Given the description of an element on the screen output the (x, y) to click on. 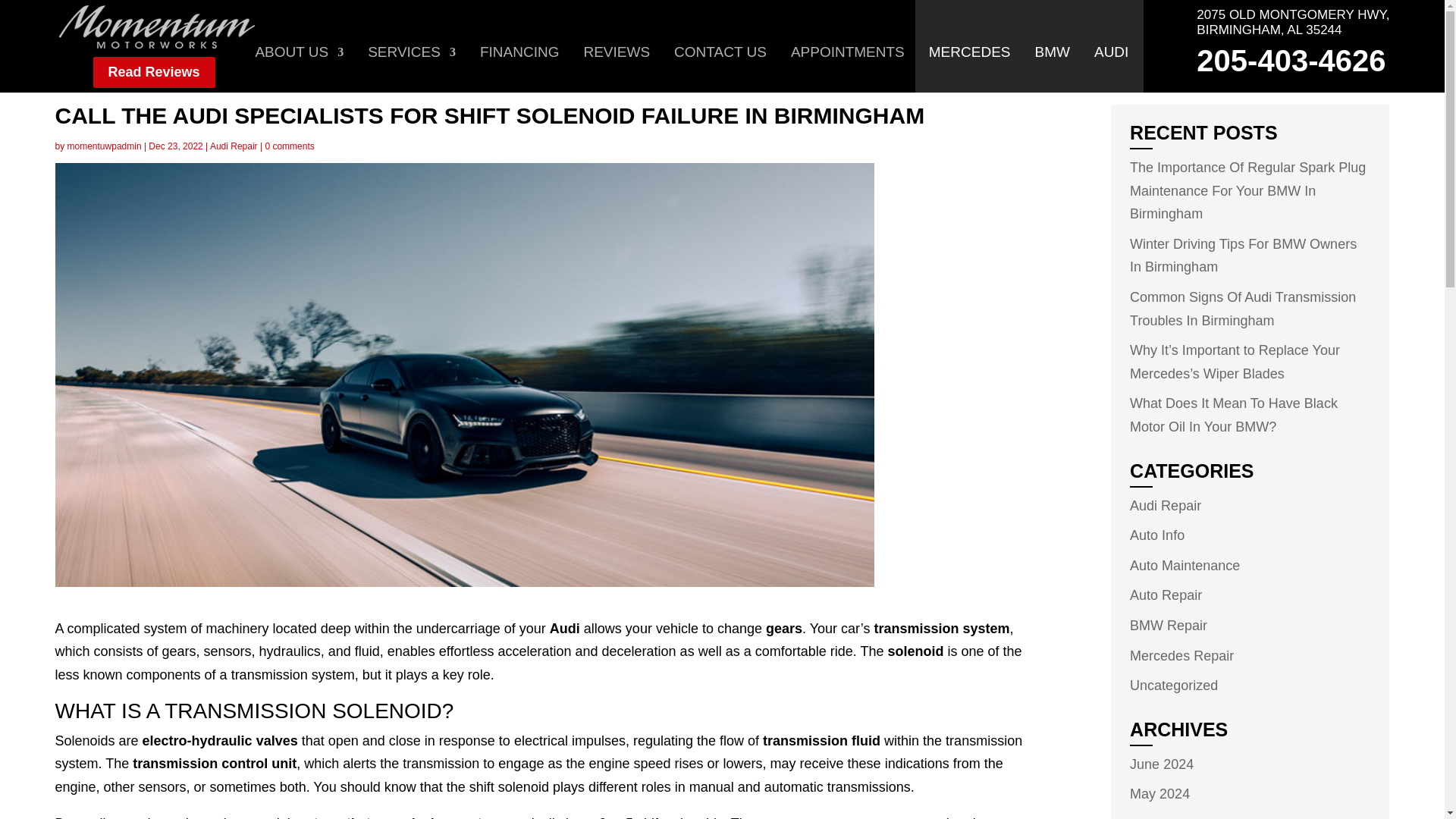
REVIEWS (616, 69)
Winter Driving Tips For BMW Owners In Birmingham (1242, 255)
CONTACT US (720, 69)
APPOINTMENTS (847, 69)
SERVICES (411, 69)
0 comments (289, 145)
FINANCING (519, 69)
MERCEDES (969, 69)
205-403-4626 (1291, 60)
